Given the description of an element on the screen output the (x, y) to click on. 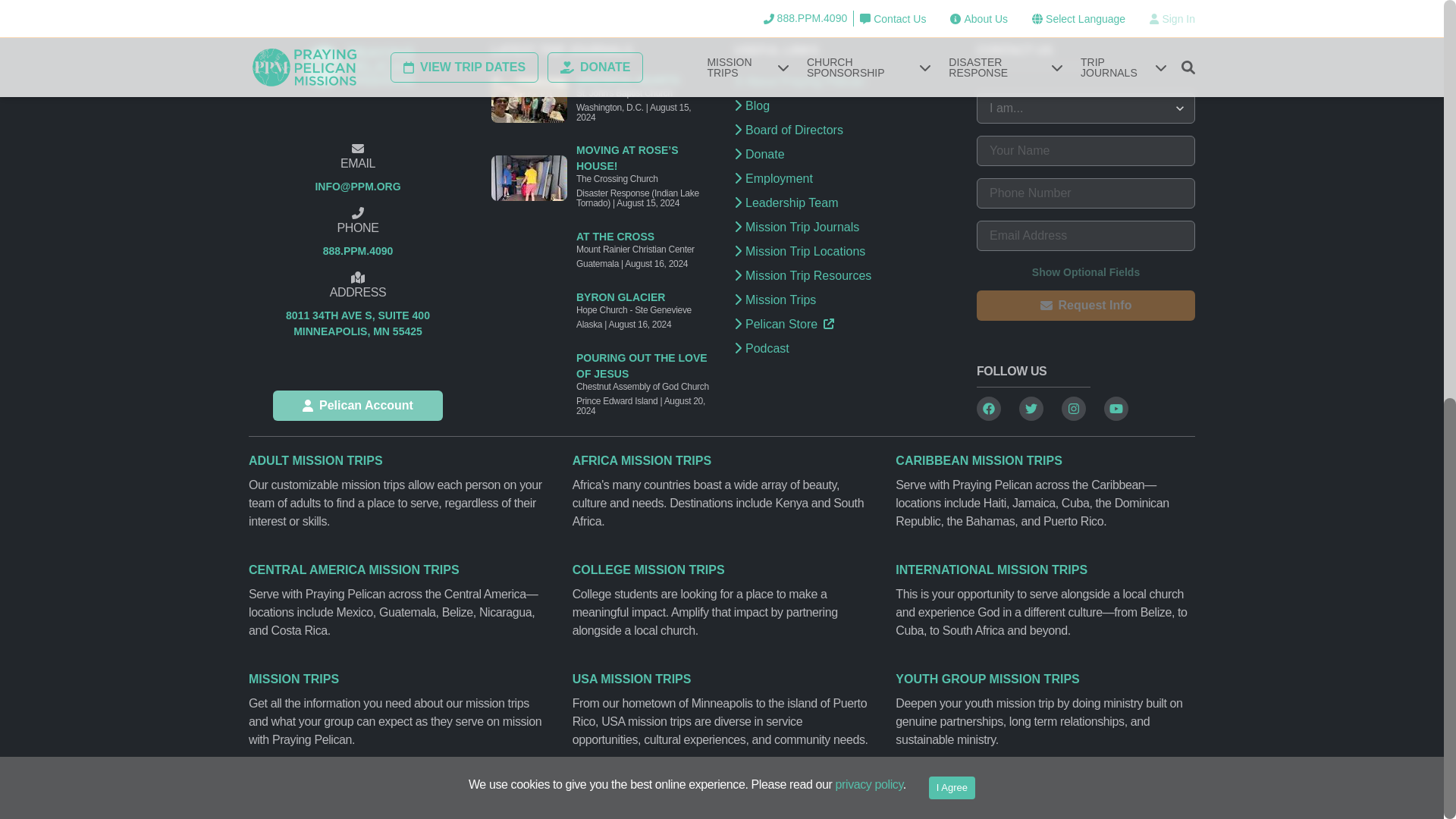
Mission Trip Locations (357, 323)
I Agree (842, 251)
Board of Directors (951, 12)
Pelican Account (842, 130)
Donate (357, 405)
Blog (842, 154)
GRATEFUL HEARTS (842, 106)
Leadership Team (643, 80)
AT THE CROSS (842, 203)
